Given the description of an element on the screen output the (x, y) to click on. 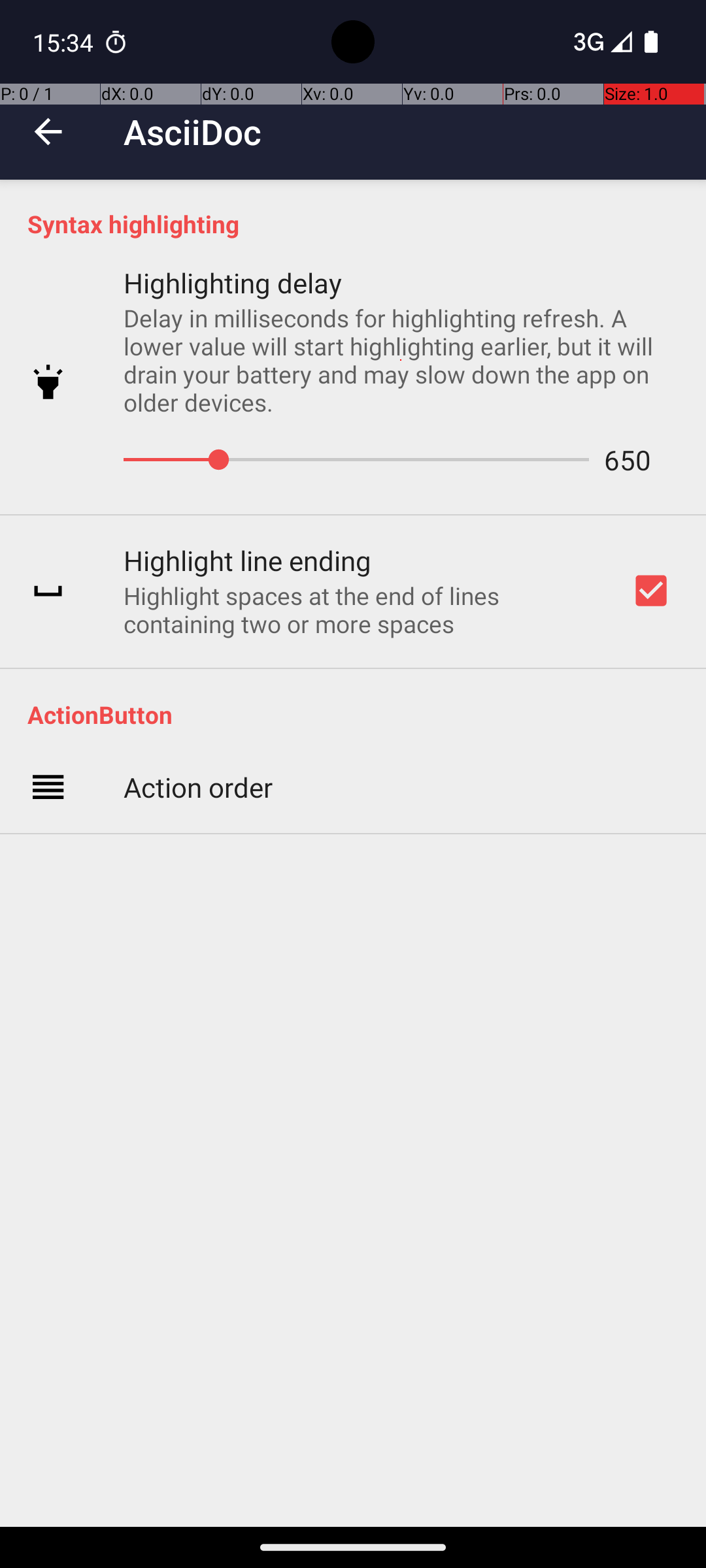
Syntax highlighting Element type: android.widget.TextView (359, 223)
ActionButton Element type: android.widget.TextView (359, 714)
Highlighting delay Element type: android.widget.TextView (232, 282)
Delay in milliseconds for highlighting refresh. A lower value will start highlighting earlier, but it will drain your battery and may slow down the app on older devices. Element type: android.widget.TextView (400, 359)
650 Element type: android.widget.TextView (619, 459)
Highlight line ending Element type: android.widget.TextView (247, 559)
Highlight spaces at the end of lines containing two or more spaces Element type: android.widget.TextView (359, 609)
Action order Element type: android.widget.TextView (197, 786)
